Given the description of an element on the screen output the (x, y) to click on. 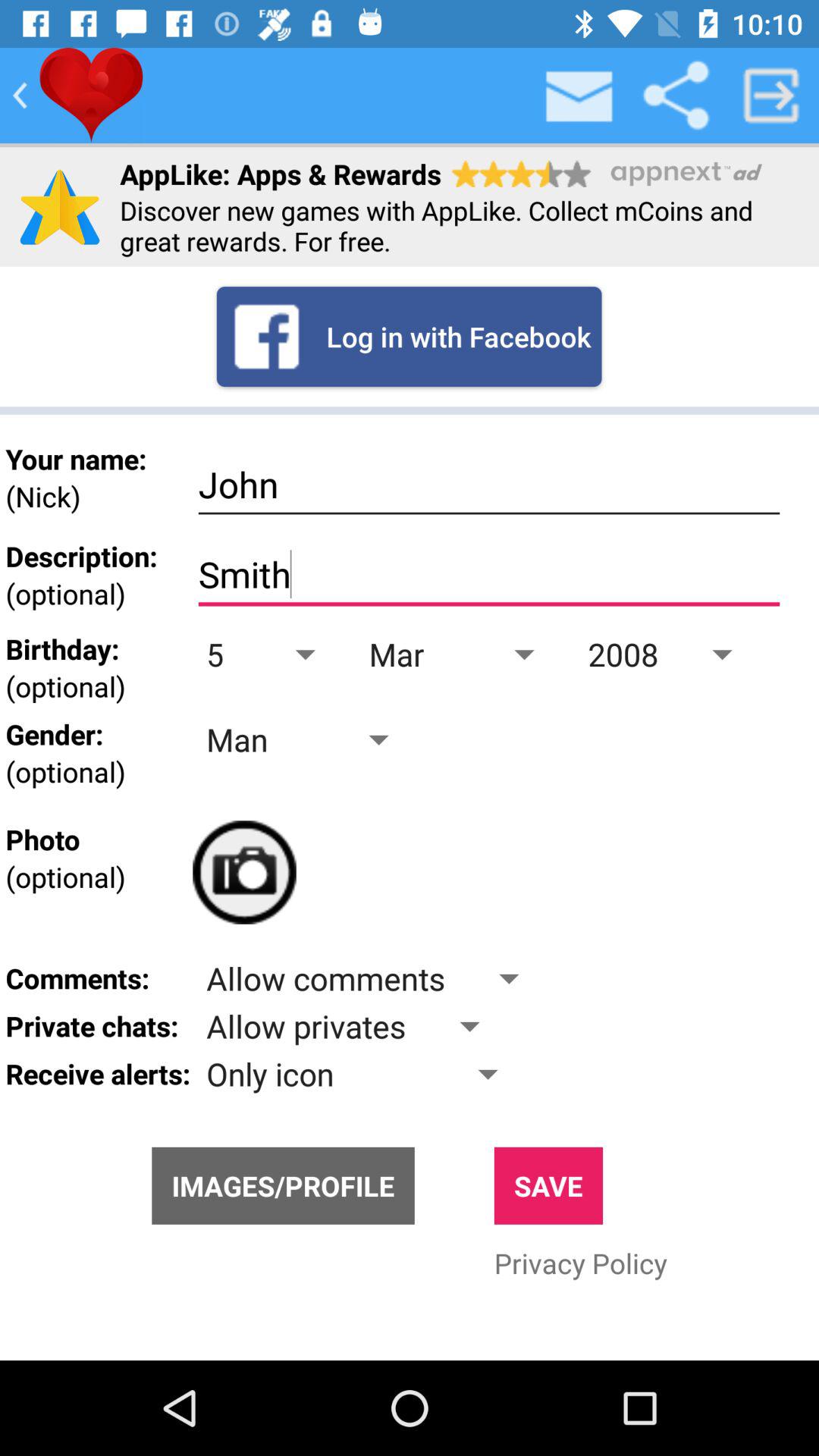
go forward (771, 95)
